Given the description of an element on the screen output the (x, y) to click on. 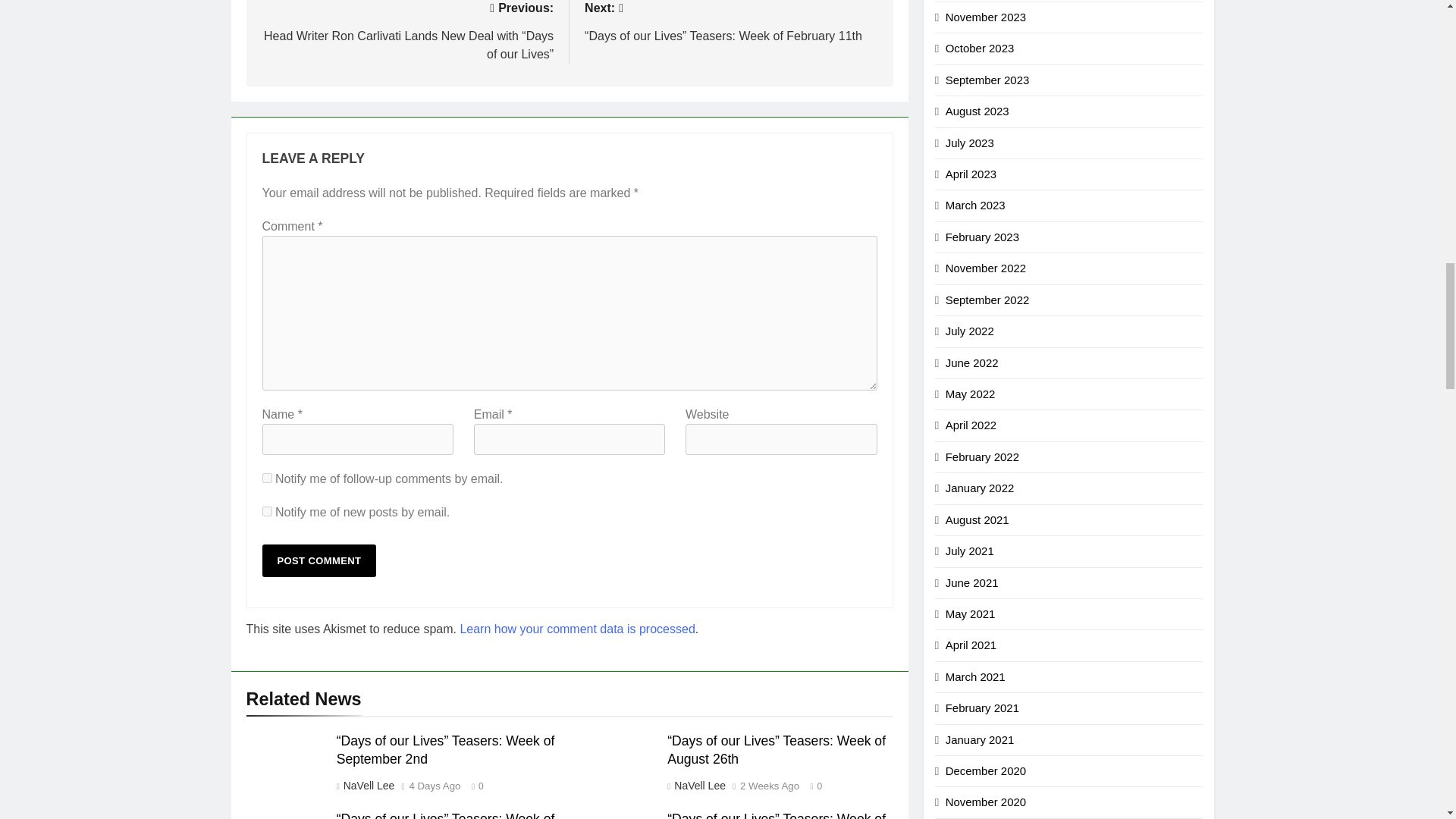
subscribe (267, 511)
subscribe (267, 478)
Post Comment (319, 560)
